Given the description of an element on the screen output the (x, y) to click on. 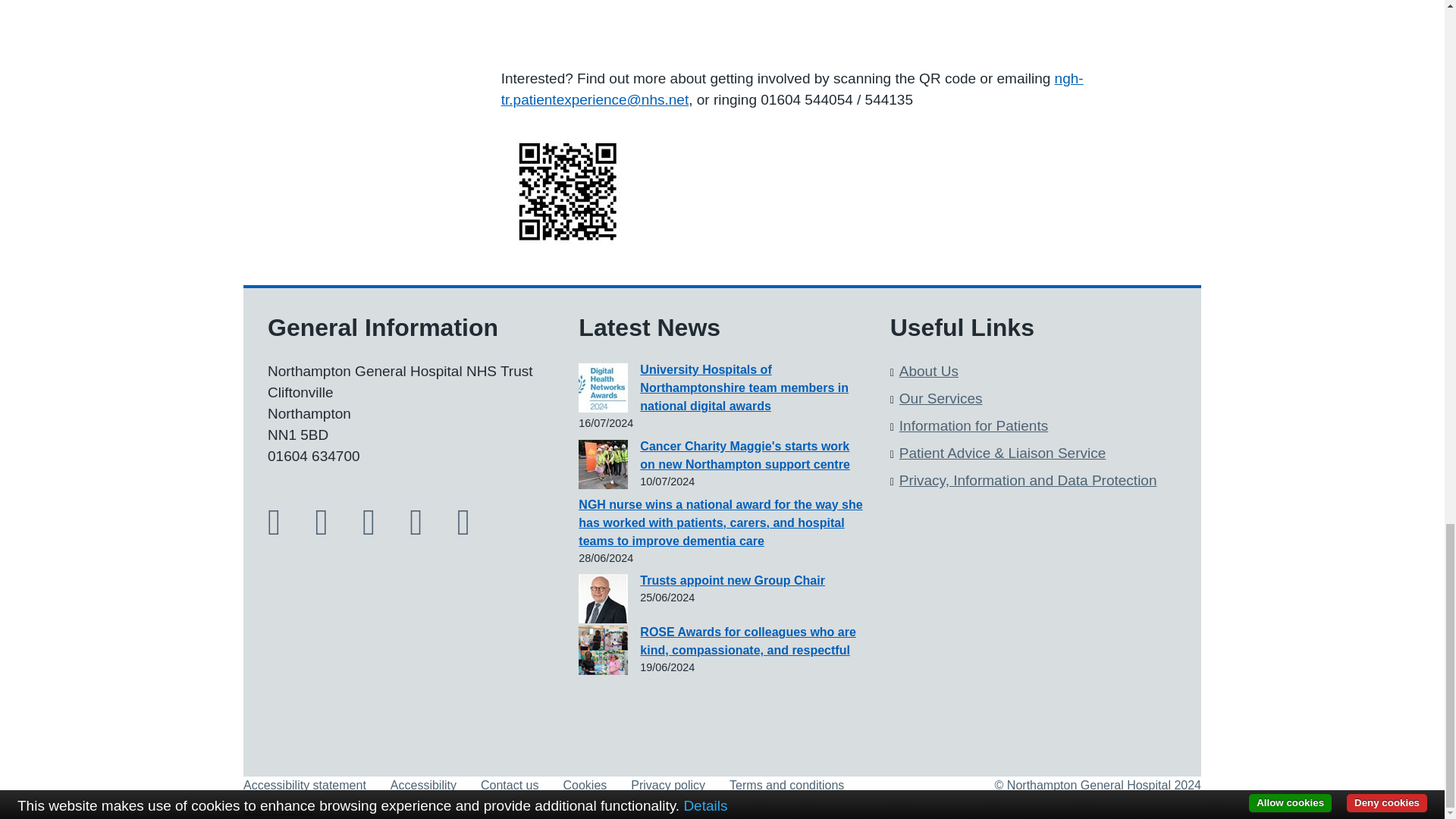
Pinterest (475, 529)
Social Media (278, 809)
Facebook (285, 529)
Trusts appoint new Group Chair (732, 580)
Contact us (509, 784)
About Us (928, 371)
Twitter (332, 529)
Terms and conditions (786, 784)
Accessibility (423, 784)
